Given the description of an element on the screen output the (x, y) to click on. 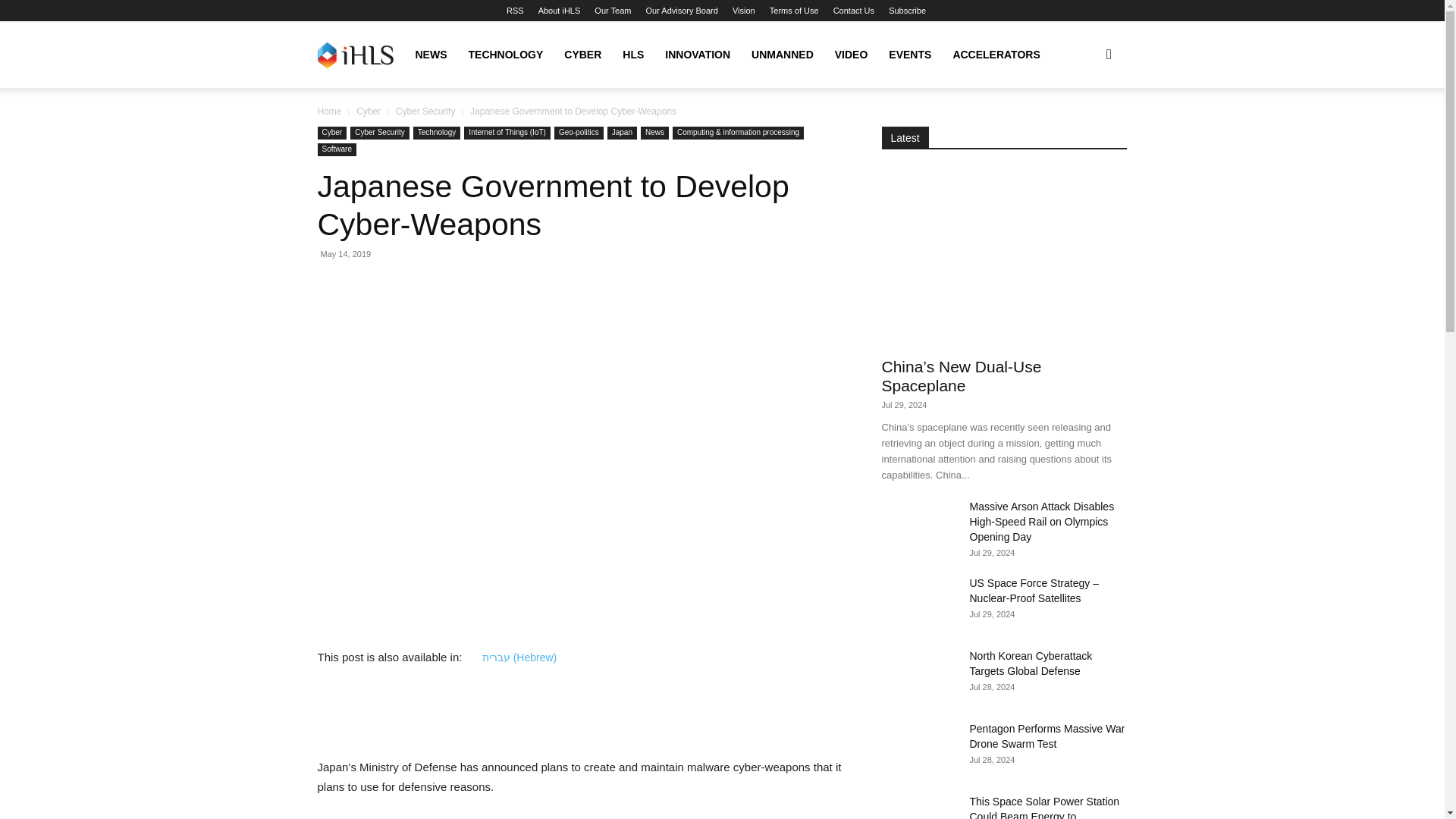
View all posts in Cyber Security (425, 111)
View all posts in Cyber (368, 111)
